Given the description of an element on the screen output the (x, y) to click on. 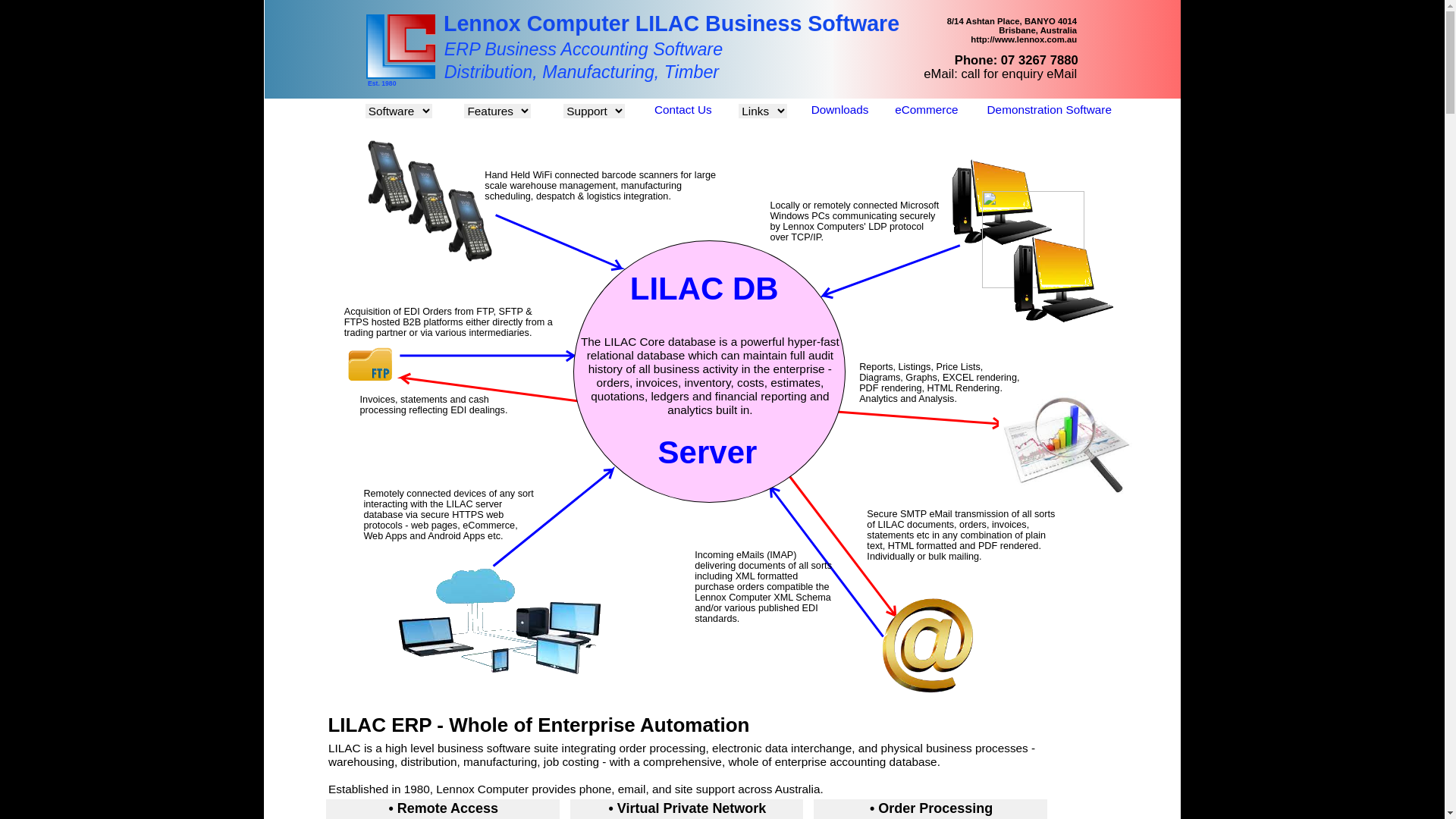
Check out  LILAC's Powerful Intergrated Analytics Element type: hover (1066, 492)
Demonstration Software Element type: text (1049, 109)
eCommerce Element type: text (925, 109)
Downloads Element type: text (840, 109)
Check out LILAC's Powerful eCommerce Integration Element type: hover (501, 685)
Lennox Computer Home Page Element type: hover (400, 74)
Contact Us Element type: text (683, 109)
